Given the description of an element on the screen output the (x, y) to click on. 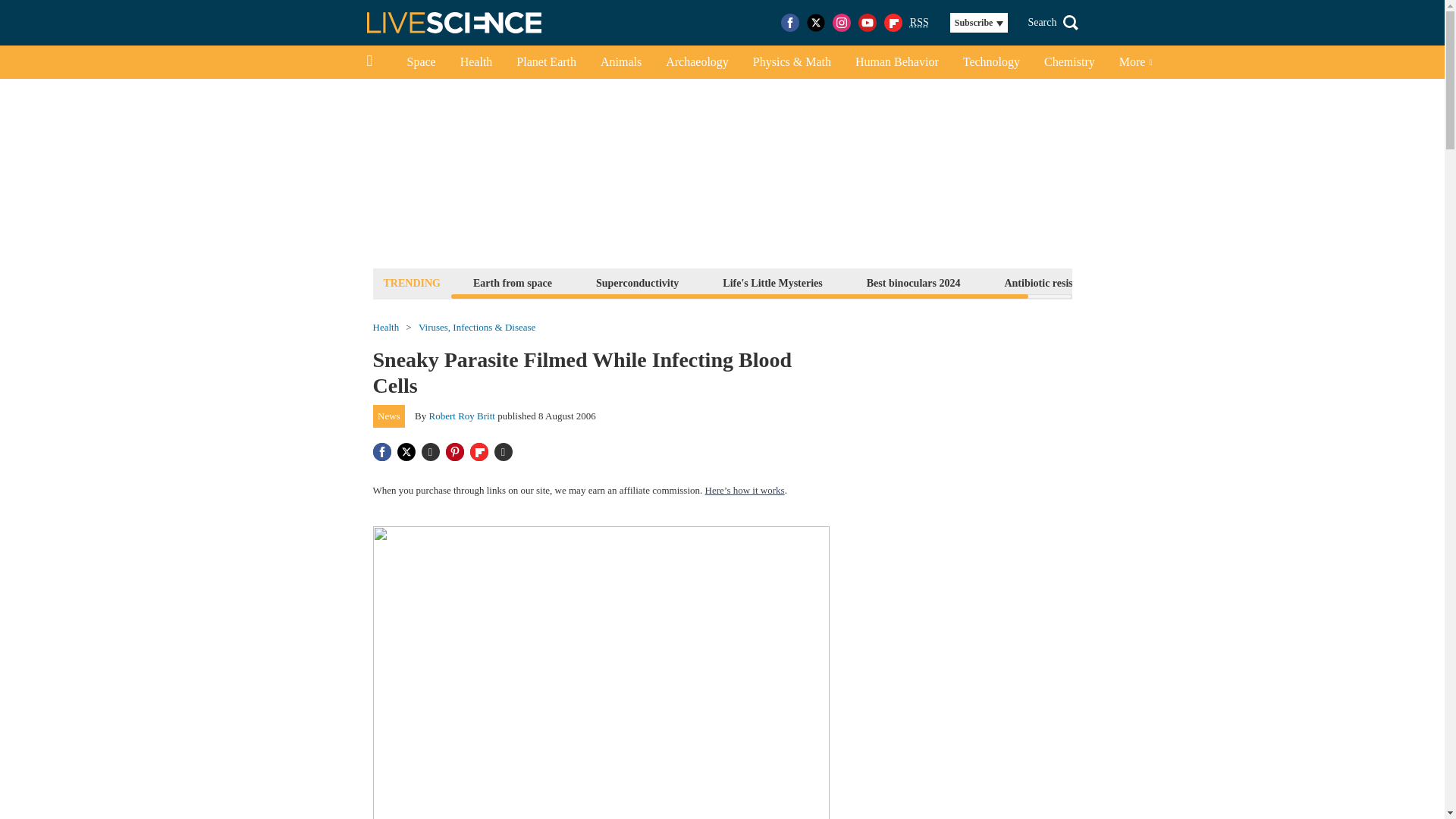
Life's Little Mysteries (772, 282)
Chemistry (1069, 61)
Superconductivity (637, 282)
Robert Roy Britt (462, 415)
Technology (991, 61)
Animals (620, 61)
Human Behavior (896, 61)
Planet Earth (545, 61)
Antibiotic resistance (1050, 282)
Archaeology (697, 61)
